Given the description of an element on the screen output the (x, y) to click on. 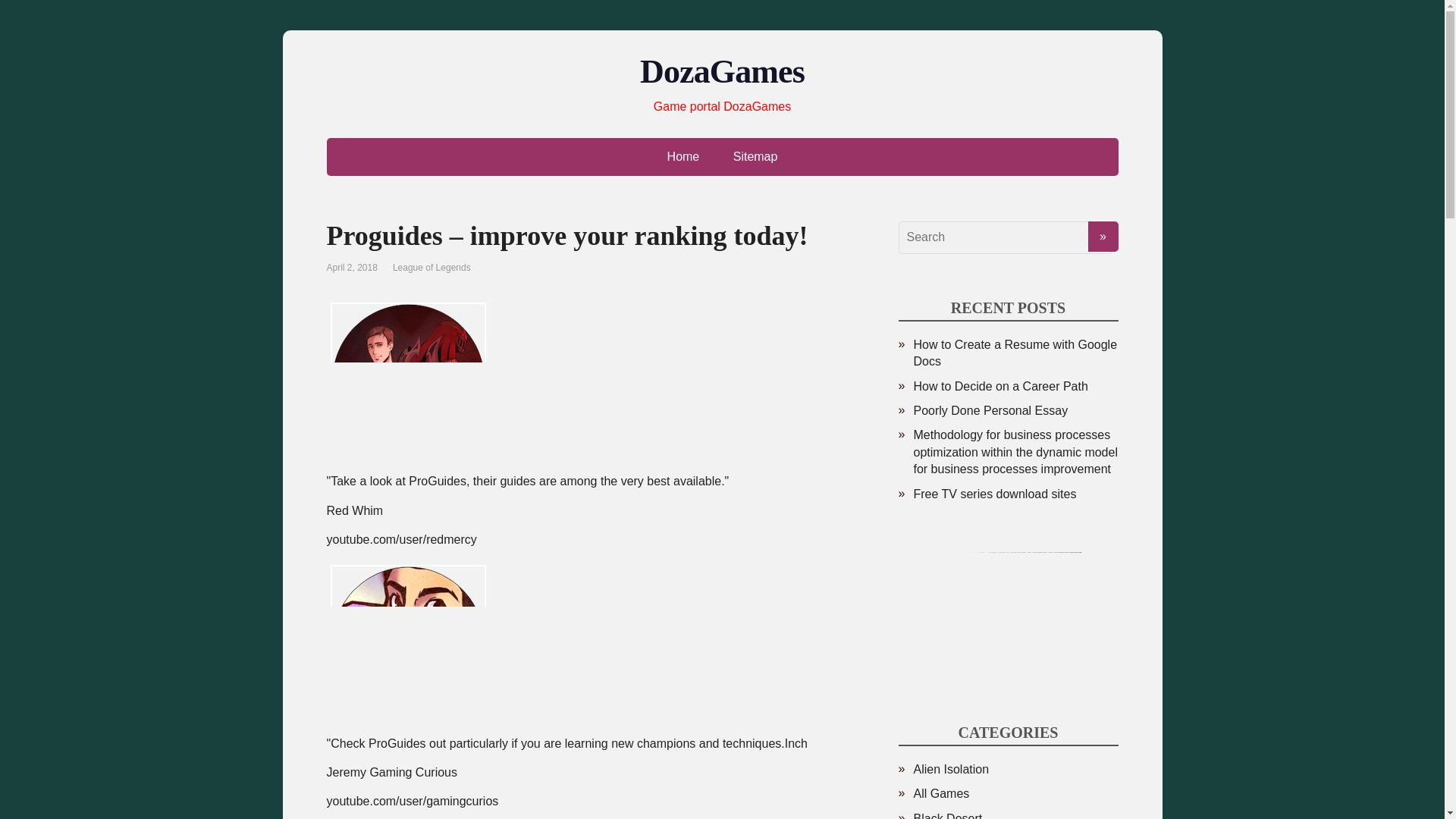
How to Decide on a Career Path (999, 386)
League of Legends (431, 267)
DozaGames (722, 71)
Free TV series download sites (993, 493)
Sitemap (755, 157)
How to Create a Resume with Google Docs (1014, 352)
DozaGames (722, 71)
Black Desert (946, 815)
Home (683, 157)
All Games (940, 793)
